Given the description of an element on the screen output the (x, y) to click on. 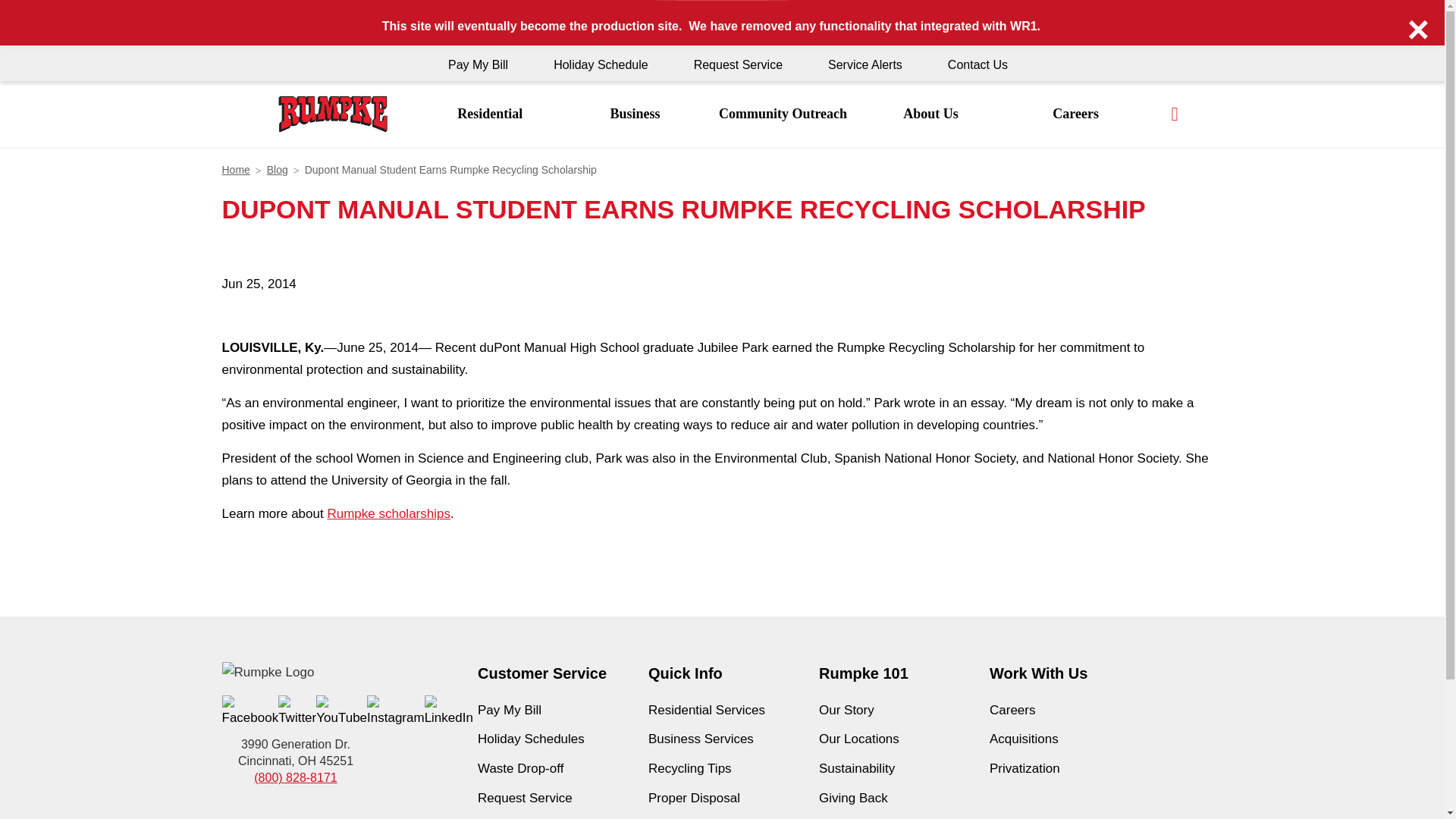
Business (634, 114)
Residential (489, 114)
Rumpke (332, 114)
